Given the description of an element on the screen output the (x, y) to click on. 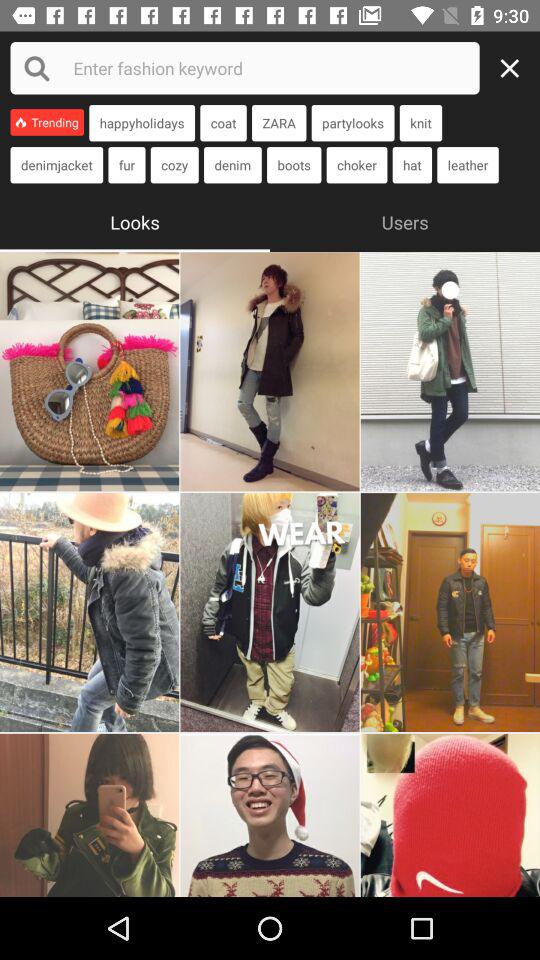
press the item to the right of the looks icon (405, 220)
